Given the description of an element on the screen output the (x, y) to click on. 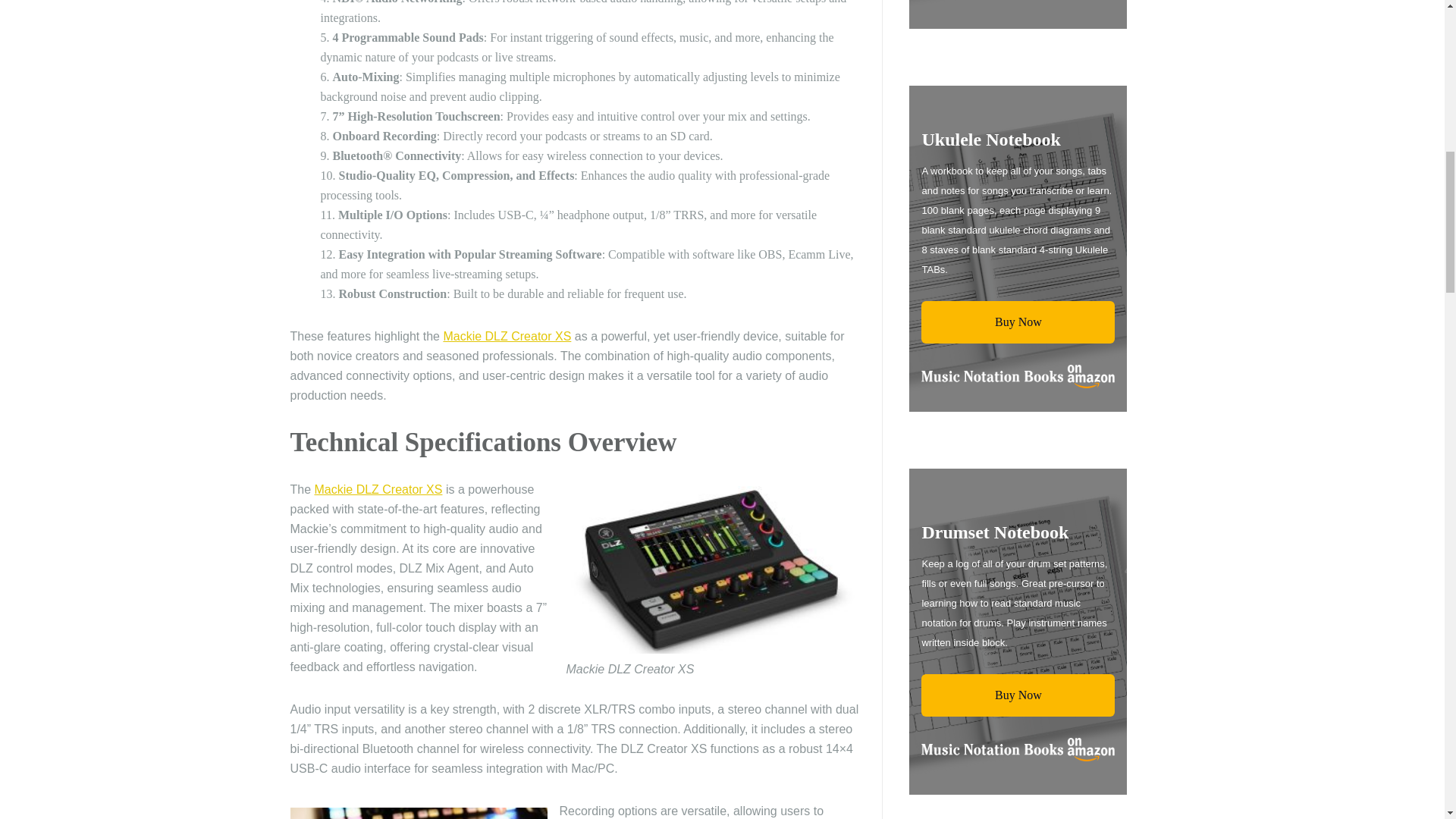
Buy Now (1018, 695)
Mackie DLZ Creator XS (378, 489)
Mackie DLZ Creator XS (506, 336)
Buy Now (1018, 322)
